Given the description of an element on the screen output the (x, y) to click on. 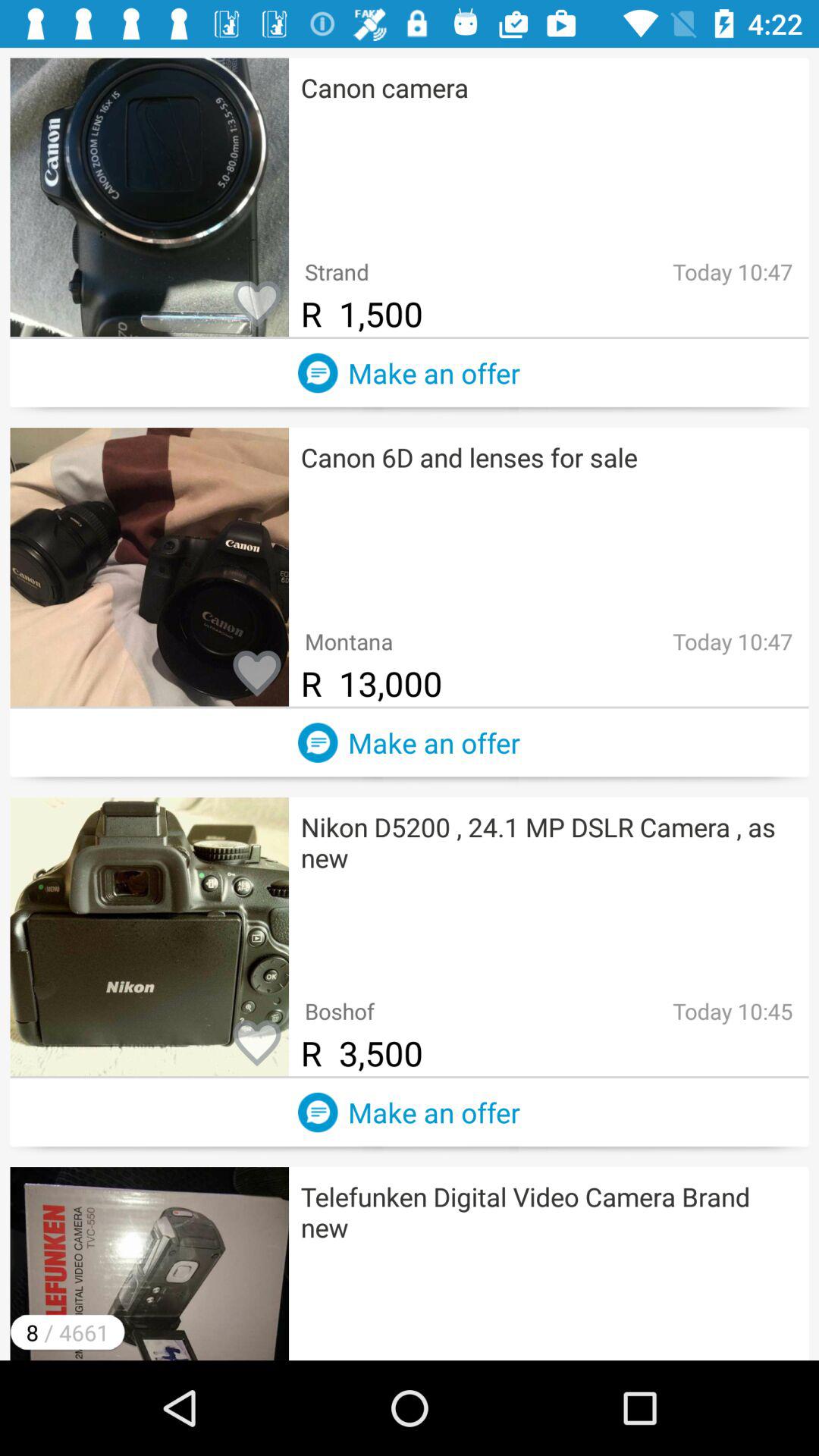
compassion and love (256, 304)
